Given the description of an element on the screen output the (x, y) to click on. 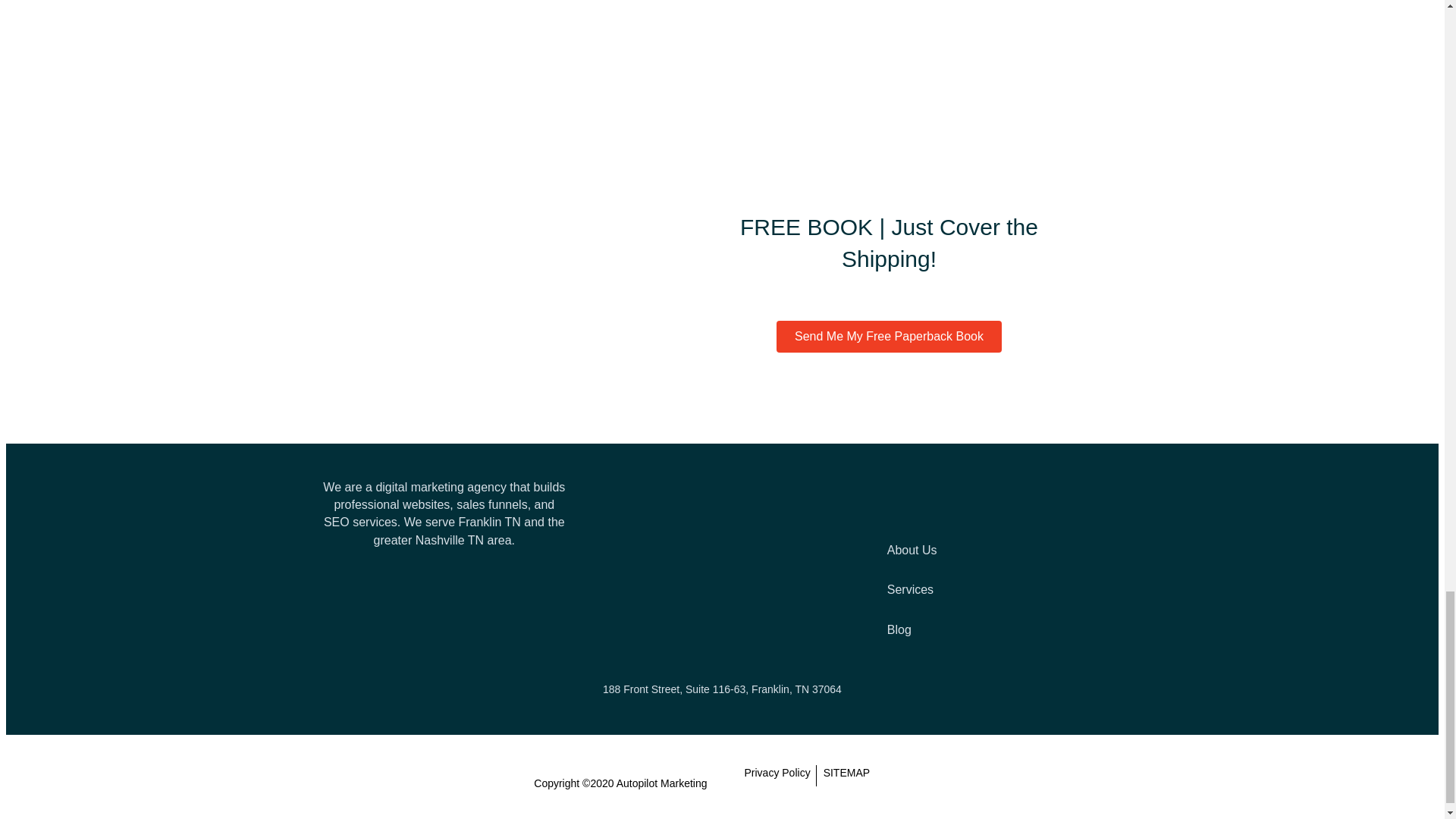
SITEMAP (845, 774)
APlowercasewhite (722, 557)
About Us (1000, 549)
Services (1000, 589)
Franklin TN (488, 521)
Privacy Policy (775, 774)
Blog (1000, 629)
Autopilot Marketing (661, 783)
Send Me My Free Paperback Book (888, 336)
Nashville TN (448, 540)
